Given the description of an element on the screen output the (x, y) to click on. 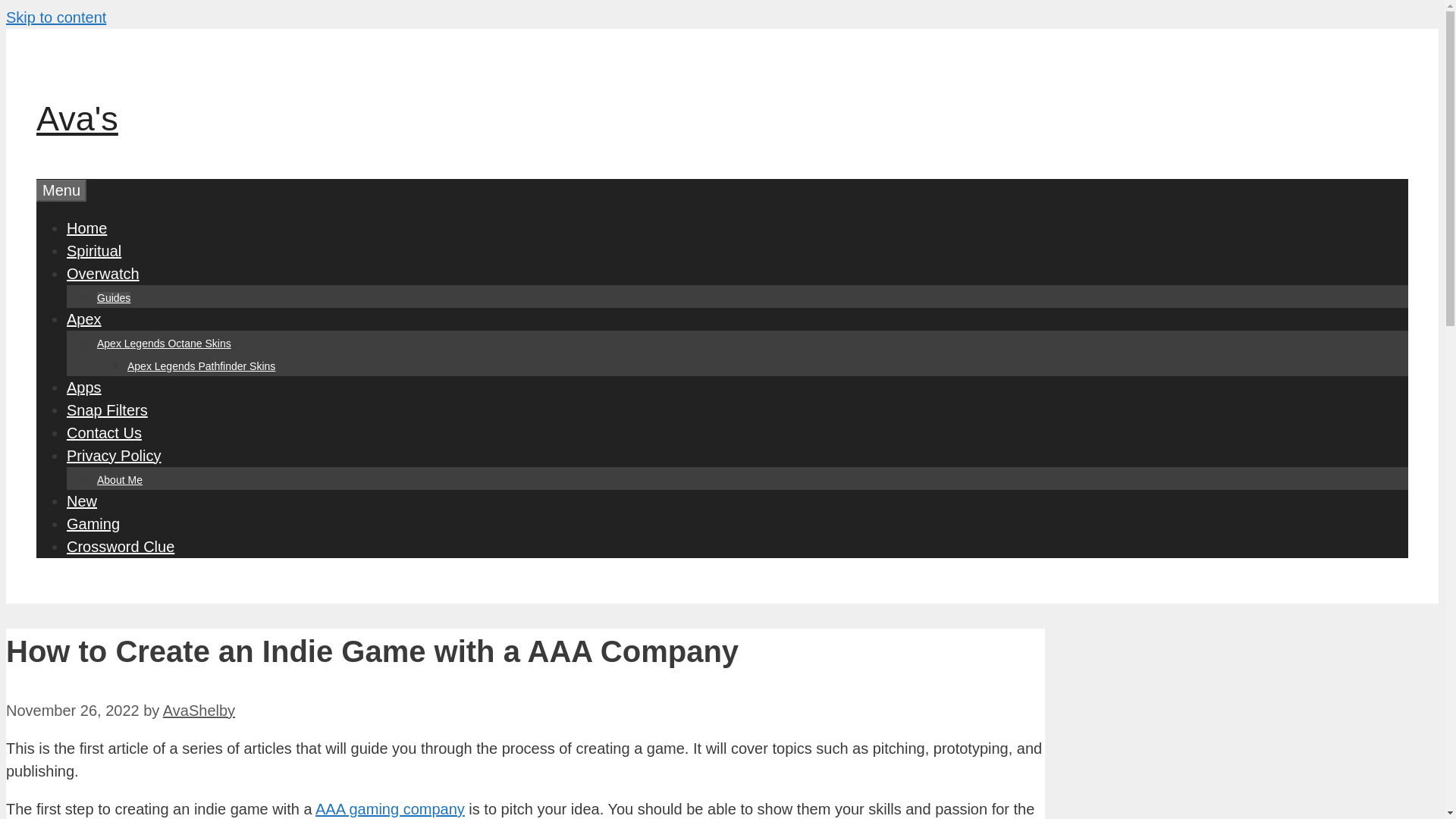
AAA gaming company (389, 808)
Privacy Policy (113, 455)
Skip to content (55, 17)
Skip to content (55, 17)
Home (86, 228)
Snap Filters (107, 410)
Menu (60, 189)
Apex (83, 319)
Guides (114, 297)
Overwatch (102, 273)
Ava's (76, 118)
View all posts by AvaShelby (198, 710)
New (81, 501)
Apps (83, 387)
Apex Legends Pathfinder Skins (201, 365)
